Given the description of an element on the screen output the (x, y) to click on. 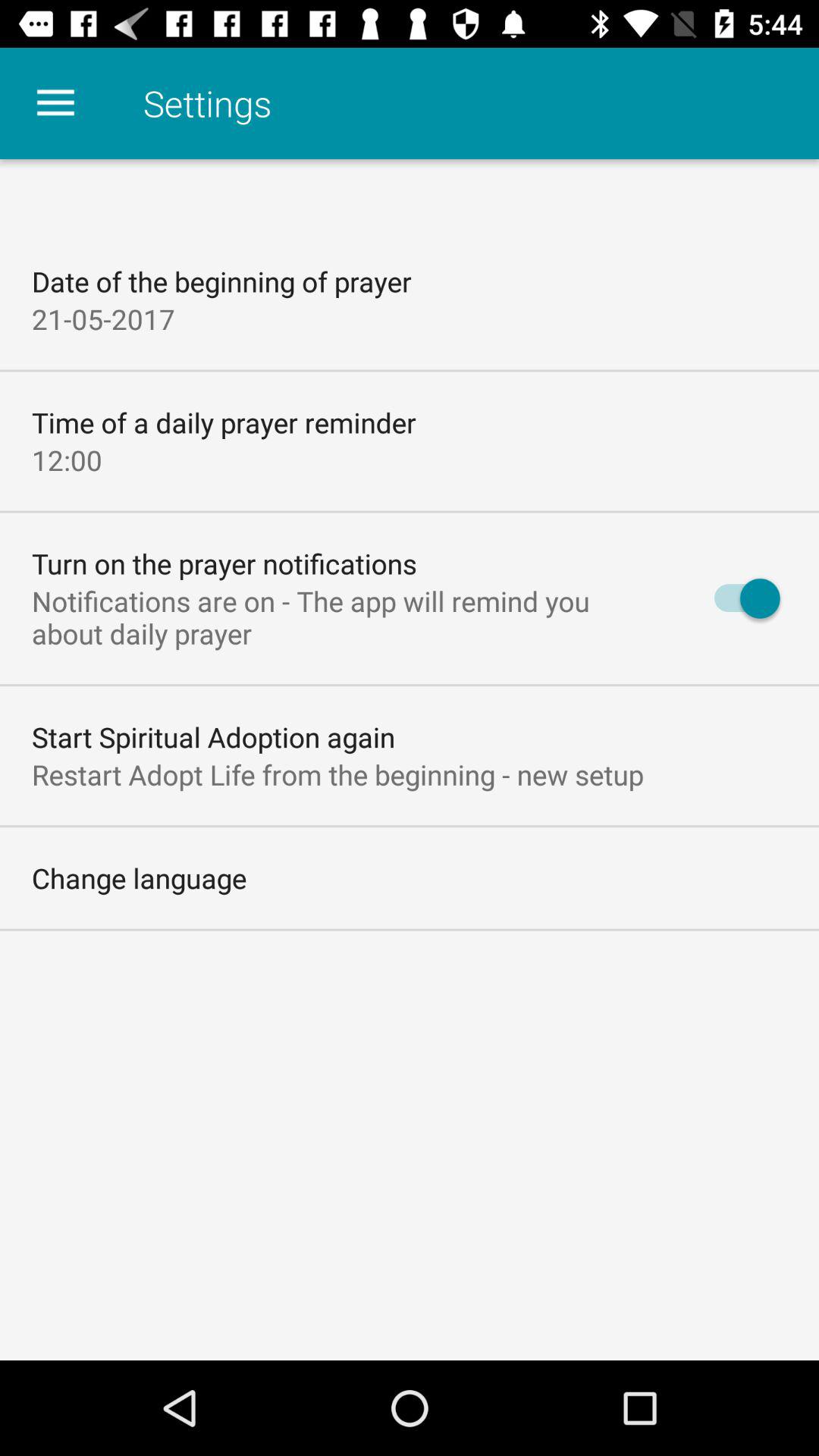
turn off the icon above the change language icon (337, 774)
